Given the description of an element on the screen output the (x, y) to click on. 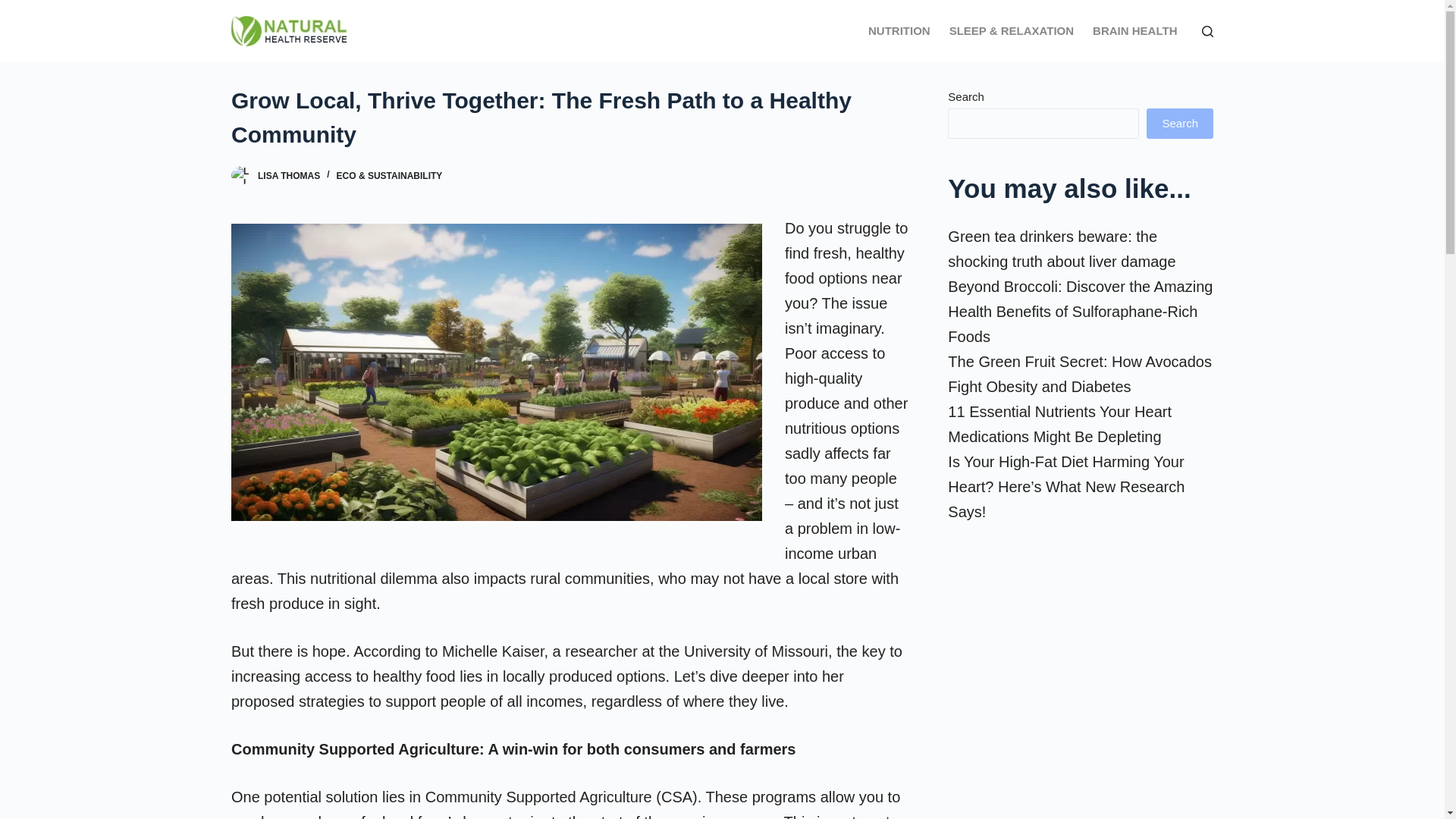
Posts by Lisa Thomas (288, 175)
BRAIN HEALTH (1134, 31)
NUTRITION (899, 31)
LISA THOMAS (288, 175)
Skip to content (15, 7)
